Given the description of an element on the screen output the (x, y) to click on. 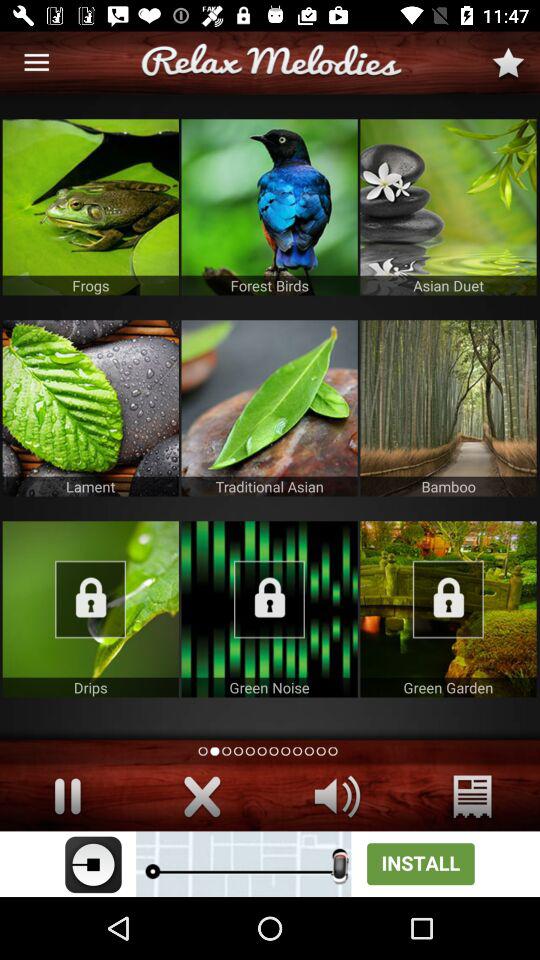
sound option (337, 796)
